Given the description of an element on the screen output the (x, y) to click on. 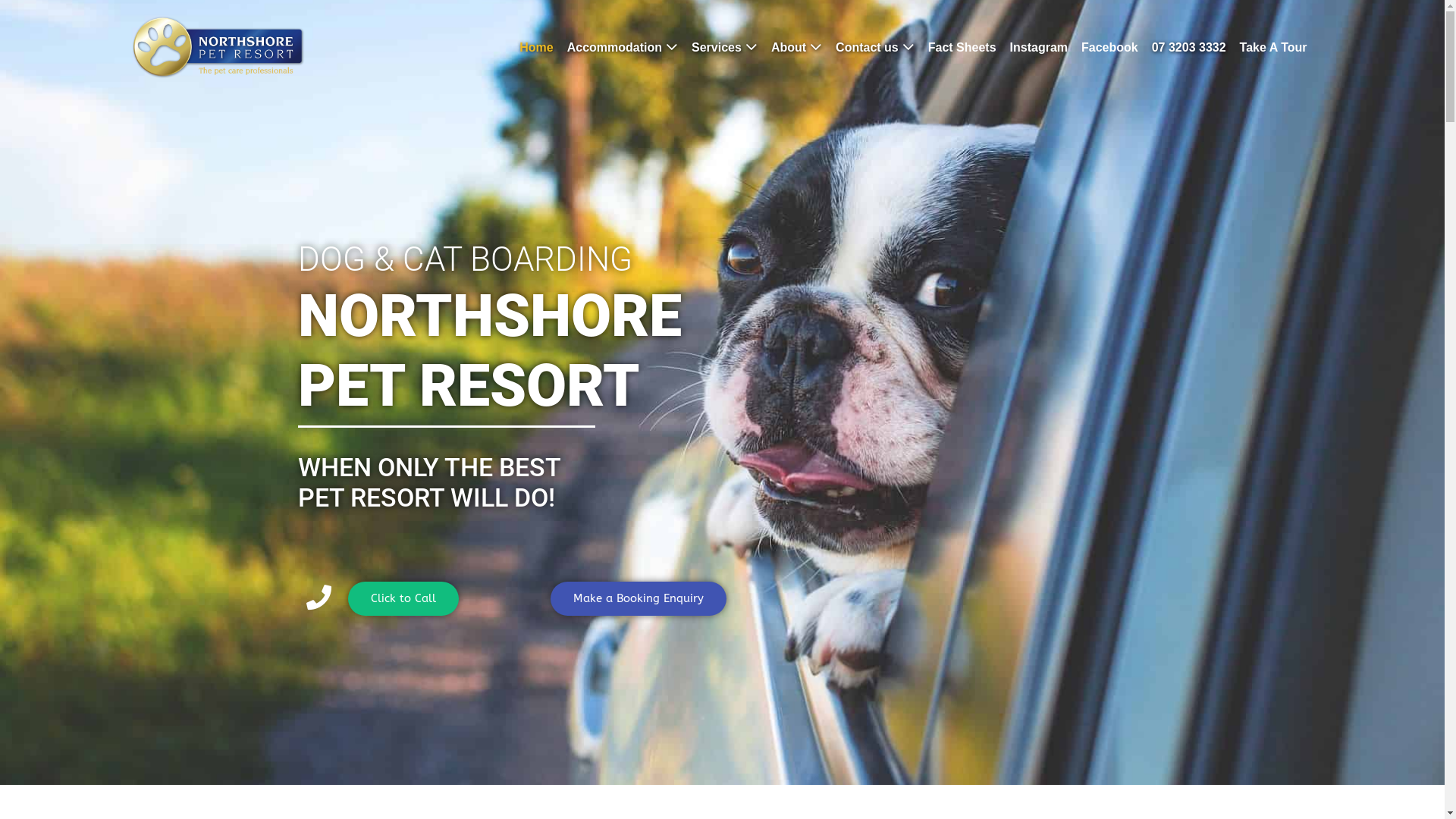
Accommodation Element type: text (622, 47)
Contact us Element type: text (874, 47)
Northshore Pet Resort Element type: hover (217, 47)
About Element type: text (796, 47)
07 3203 3332 Element type: text (1189, 47)
Take A Tour Element type: text (1273, 47)
Fact Sheets Element type: text (962, 47)
Home Element type: text (535, 47)
Click to Call Element type: text (403, 598)
Facebook Element type: text (1109, 47)
Make a Booking Enquiry Element type: text (638, 598)
Services Element type: text (724, 47)
Instagram Element type: text (1038, 47)
